Given the description of an element on the screen output the (x, y) to click on. 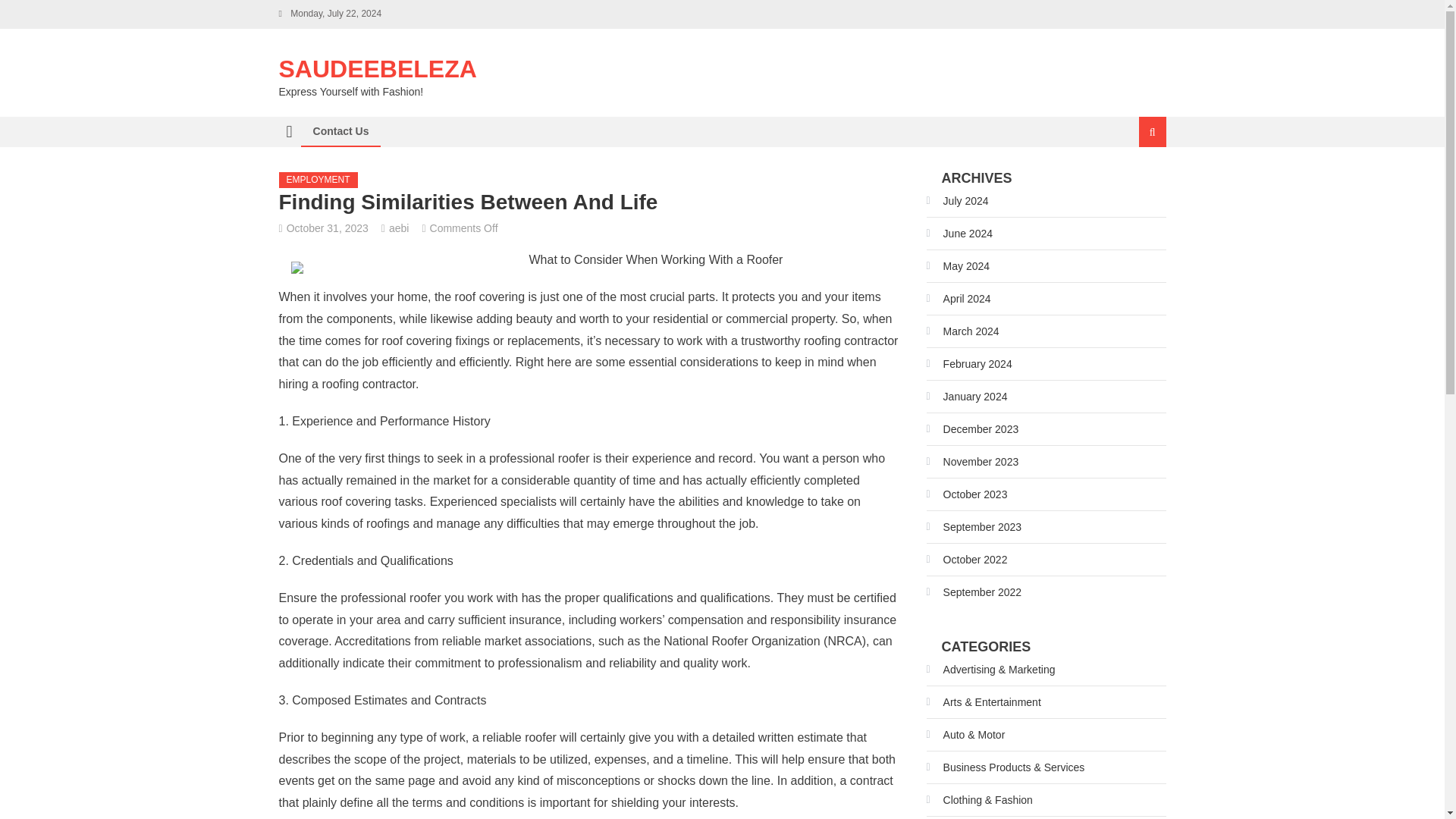
February 2024 (968, 363)
April 2024 (958, 298)
SAUDEEBELEZA (378, 68)
EMPLOYMENT (318, 180)
Contact Us (340, 131)
July 2024 (957, 200)
October 31, 2023 (327, 227)
Search (1133, 182)
December 2023 (972, 428)
January 2024 (966, 396)
aebi (398, 227)
March 2024 (962, 331)
June 2024 (959, 233)
May 2024 (958, 265)
